Given the description of an element on the screen output the (x, y) to click on. 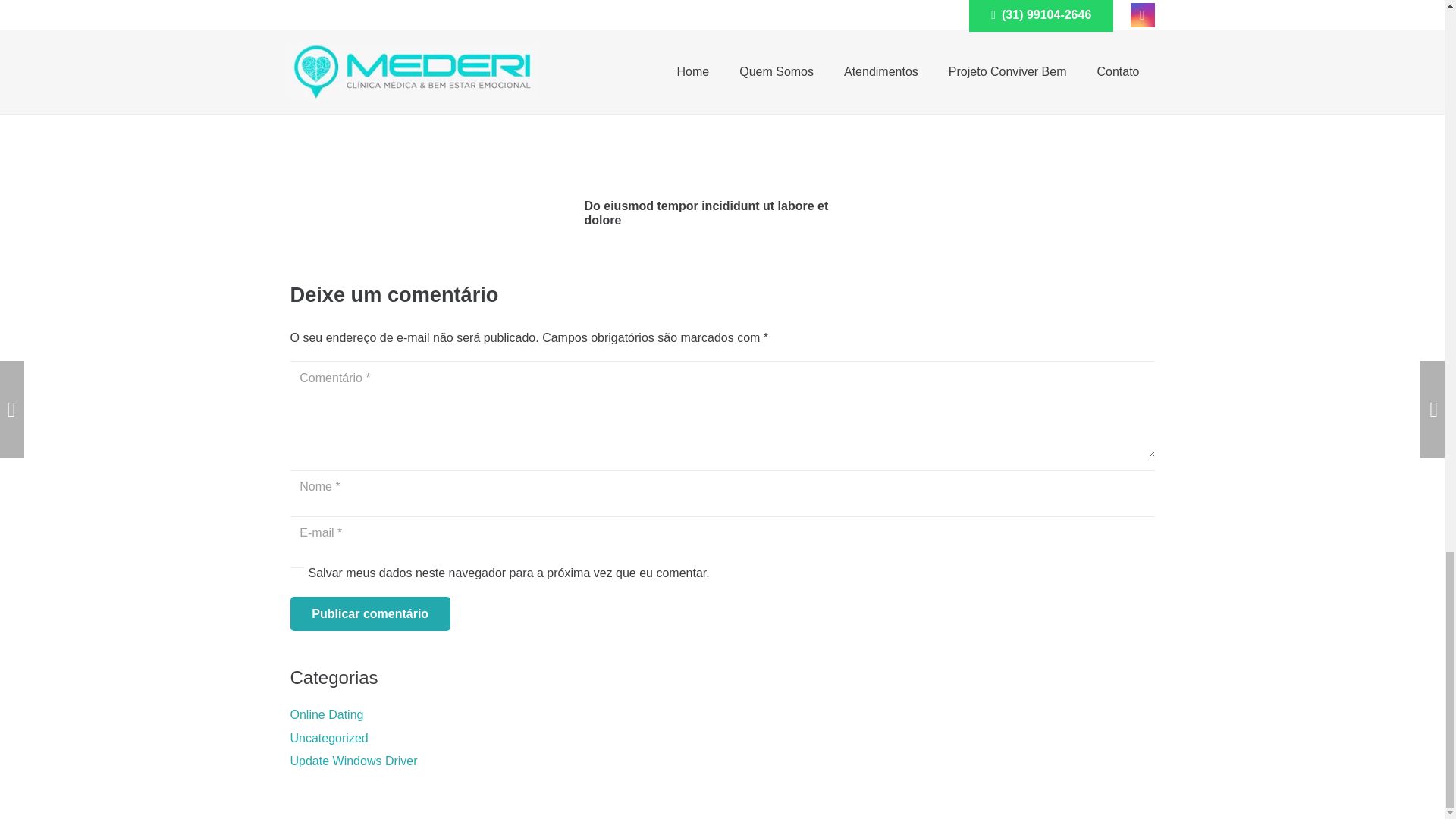
1 (295, 573)
Do eiusmod tempor incididunt ut labore et dolore (705, 212)
Update Windows Driver (352, 760)
Uncategorized (328, 738)
Online Dating (325, 714)
How to Find Online Casinos that Offer Welcome Bonus Features (1015, 17)
